Given the description of an element on the screen output the (x, y) to click on. 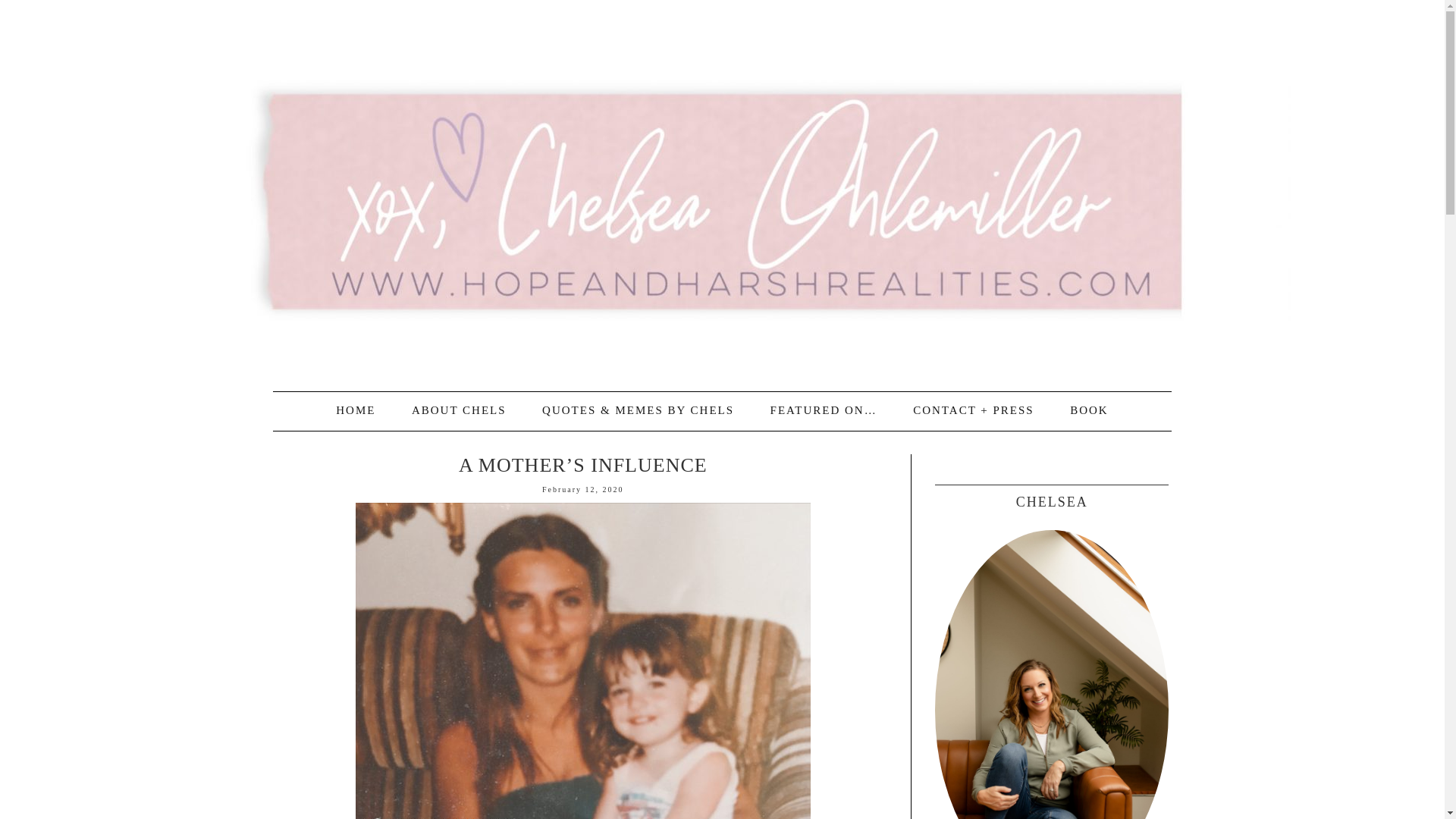
HOME (355, 410)
ABOUT CHELS (458, 410)
BOOK (1089, 410)
